Given the description of an element on the screen output the (x, y) to click on. 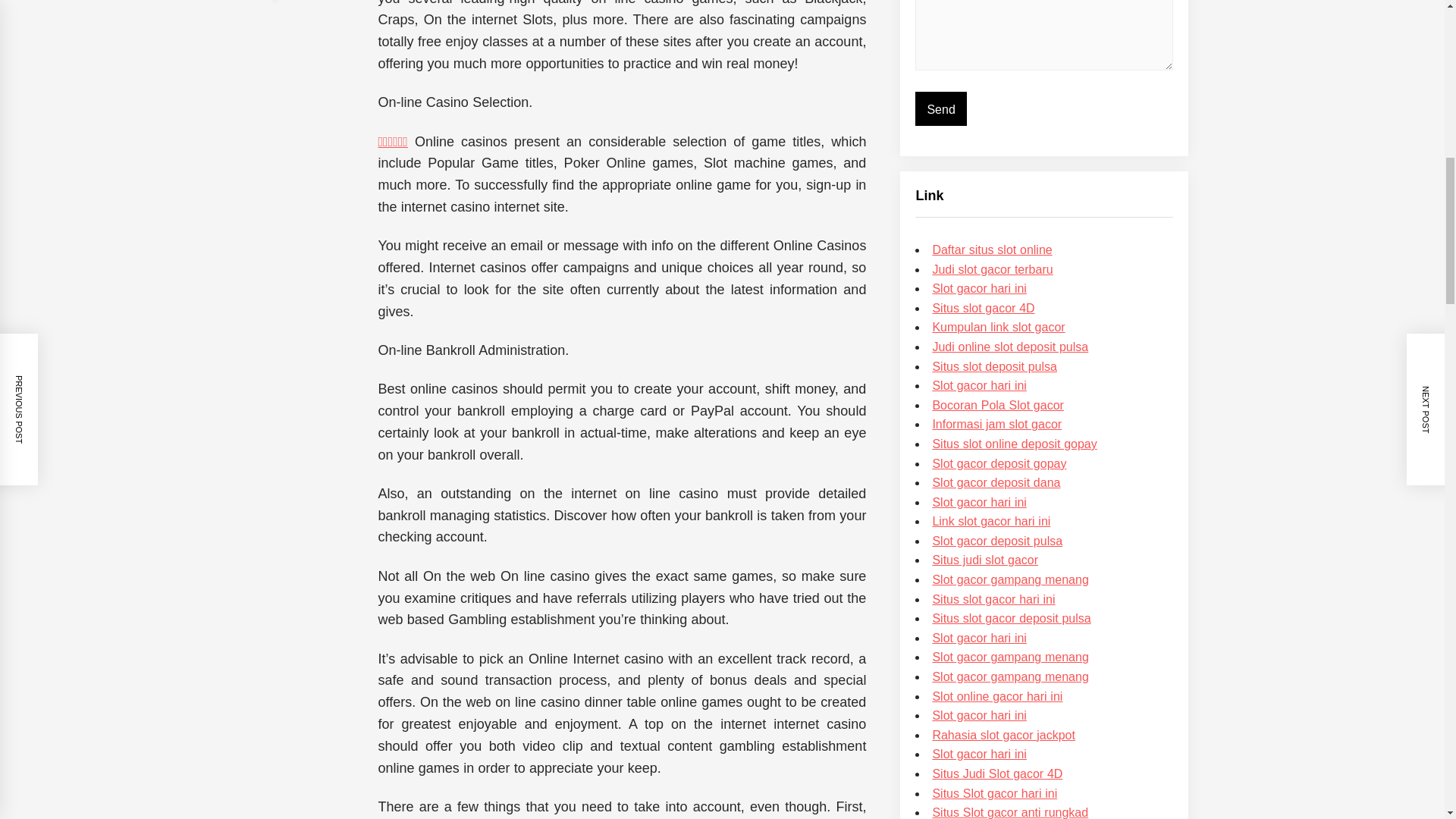
Daftar situs slot online (991, 249)
Send (940, 108)
Send (940, 108)
